Given the description of an element on the screen output the (x, y) to click on. 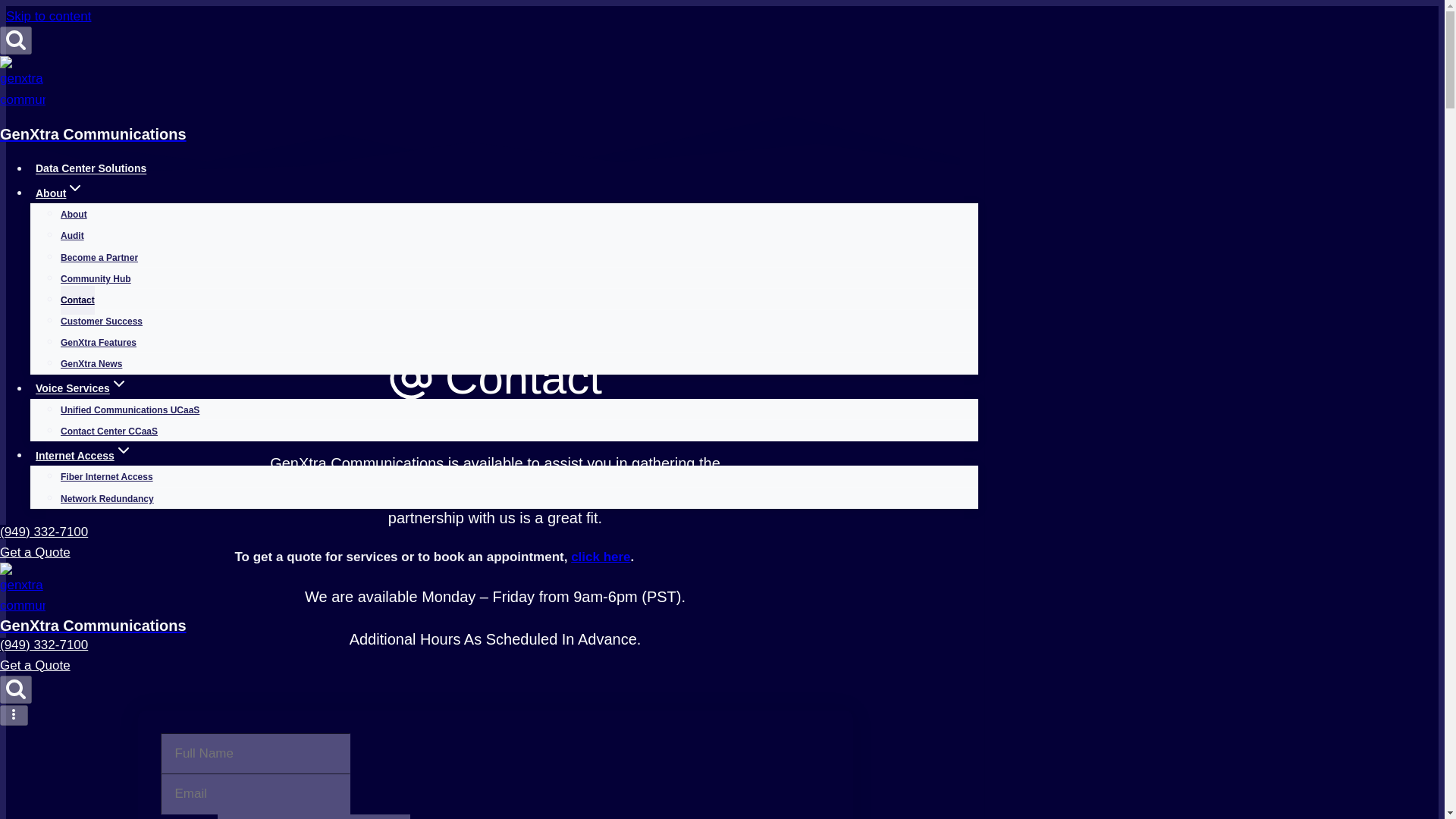
Voice ServicesExpand (81, 388)
Get a Quote (34, 665)
Search (16, 689)
Toggle Menu (13, 714)
Data Center Solutions (90, 168)
Skip to content (47, 16)
Search (16, 40)
Get a Quote (34, 552)
Audit (72, 235)
Skip to content (47, 16)
Fiber Internet Access (106, 476)
AboutExpand (59, 193)
Customer Success (101, 321)
Expand (119, 383)
Contact Center CCaaS (109, 430)
